Given the description of an element on the screen output the (x, y) to click on. 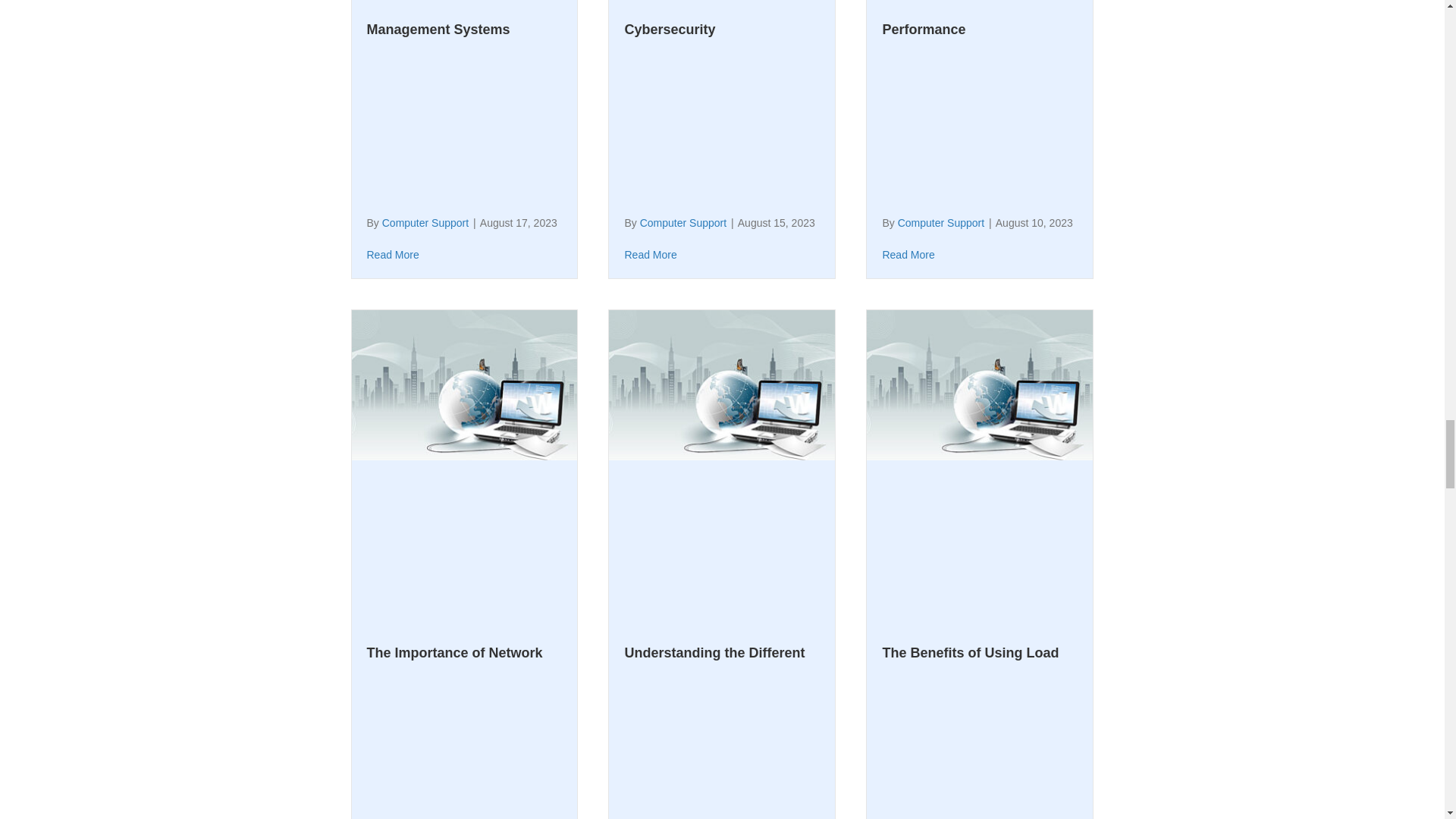
The Importance of Network Monitoring for Cybersecurity (460, 732)
The Importance of Network Monitoring for Cybersecurity (465, 384)
How to Optimize Your Business Database Performance (952, 18)
The Benefits of Using Network Segmentation for Cybersecurity (650, 254)
How to Optimize Your Business Database Performance (908, 254)
The Benefits of Using Network Segmentation for Cybersecurity (708, 18)
